Given the description of an element on the screen output the (x, y) to click on. 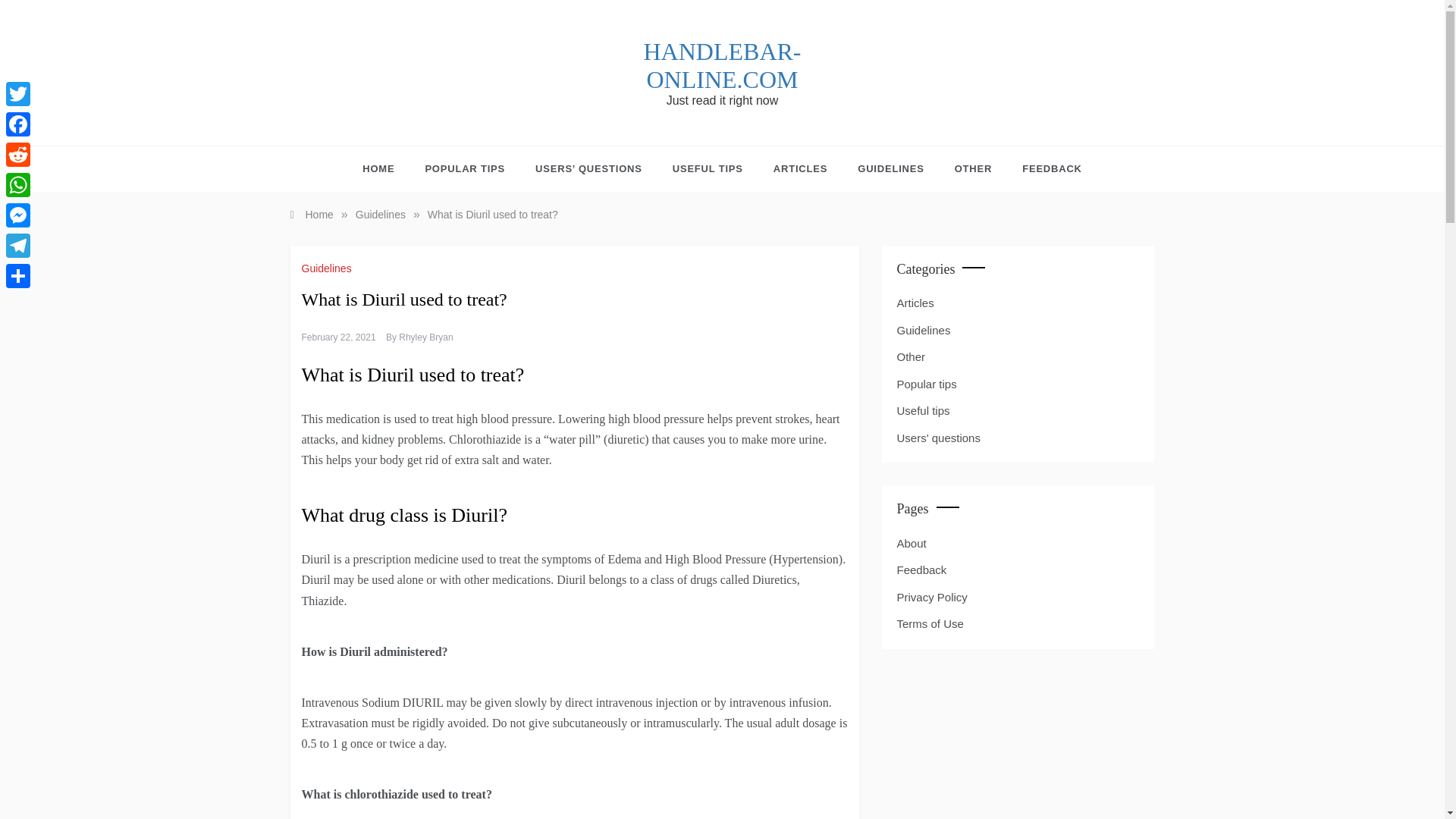
Popular tips (926, 383)
Privacy Policy (931, 596)
Guidelines (328, 268)
Users' questions (937, 437)
Rhyley Bryan (425, 337)
POPULAR TIPS (464, 168)
Facebook (17, 123)
Articles (914, 302)
USEFUL TIPS (708, 168)
February 22, 2021 (338, 337)
